Given the description of an element on the screen output the (x, y) to click on. 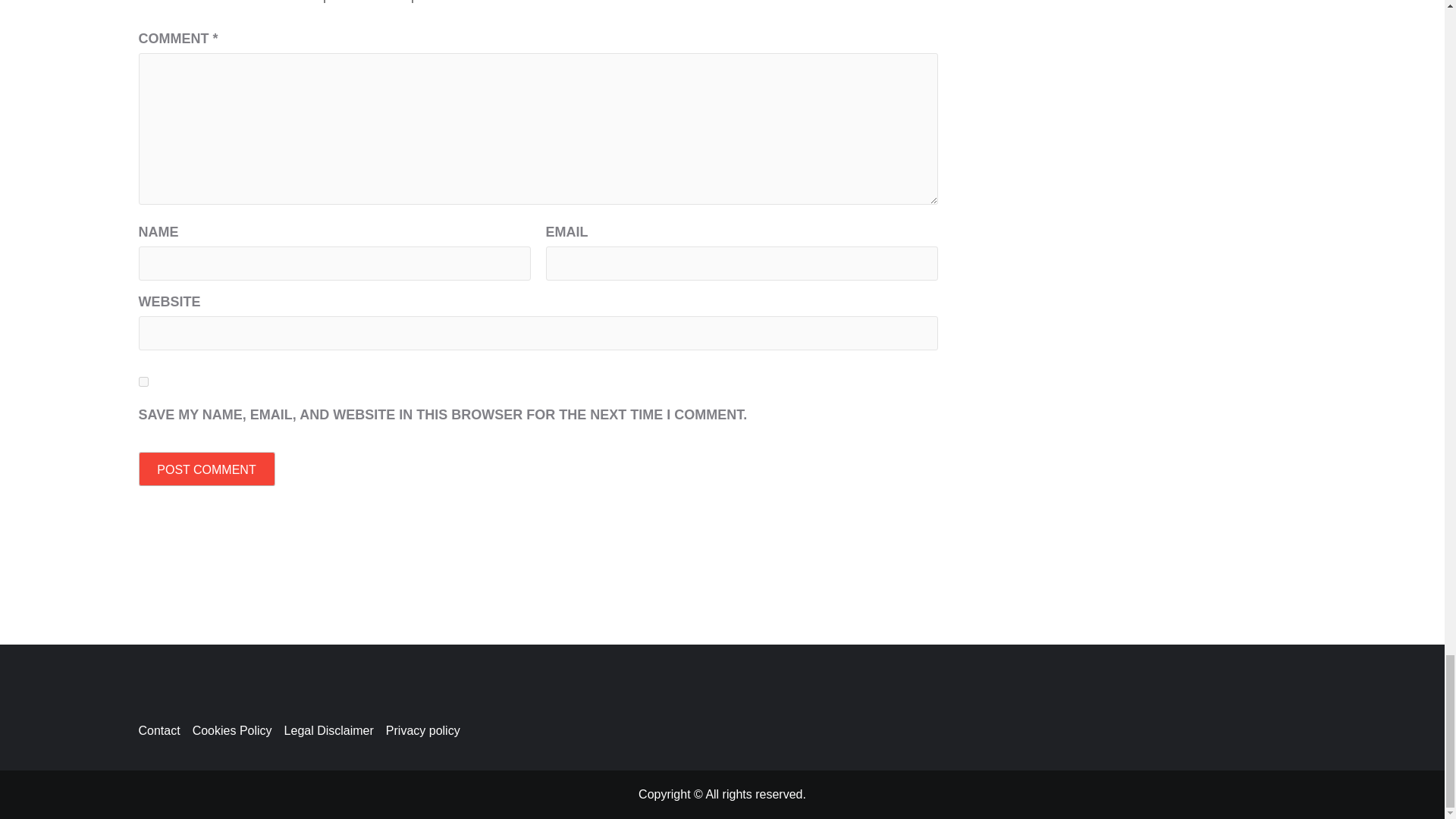
Post Comment (206, 469)
Contact (165, 730)
Post Comment (206, 469)
Cookies Policy (237, 730)
